Given the description of an element on the screen output the (x, y) to click on. 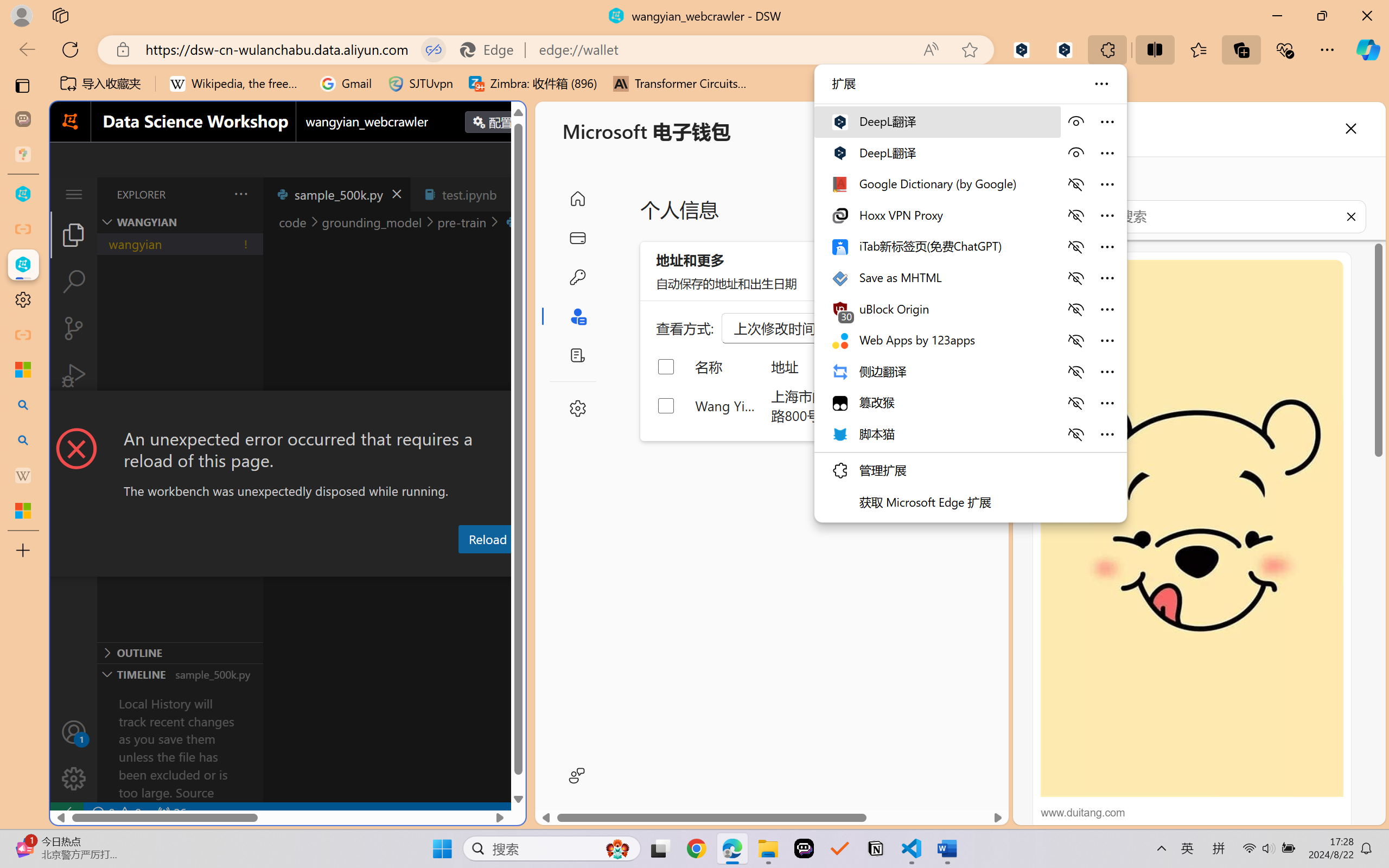
Web Apps by 123apps (936, 339)
Google Dictionary (by Google) (936, 182)
Accounts - Sign in requested (73, 732)
Tab actions (512, 194)
Extensions (Ctrl+Shift+X) (73, 422)
Outline Section (179, 652)
